Given the description of an element on the screen output the (x, y) to click on. 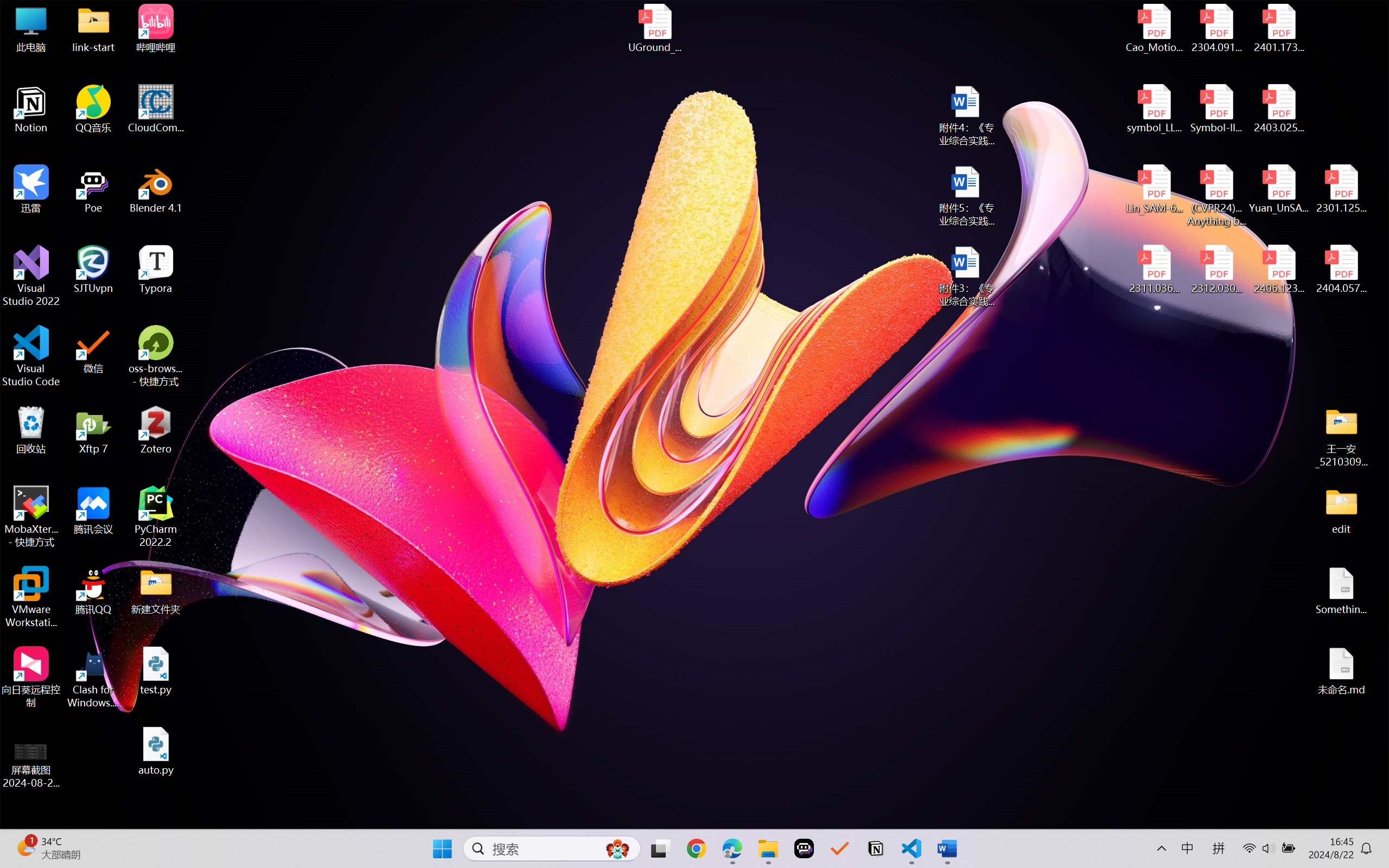
Visual Studio Code (31, 355)
PyCharm 2022.2 (156, 516)
Visual Studio 2022 (31, 276)
Typora (156, 269)
